Given the description of an element on the screen output the (x, y) to click on. 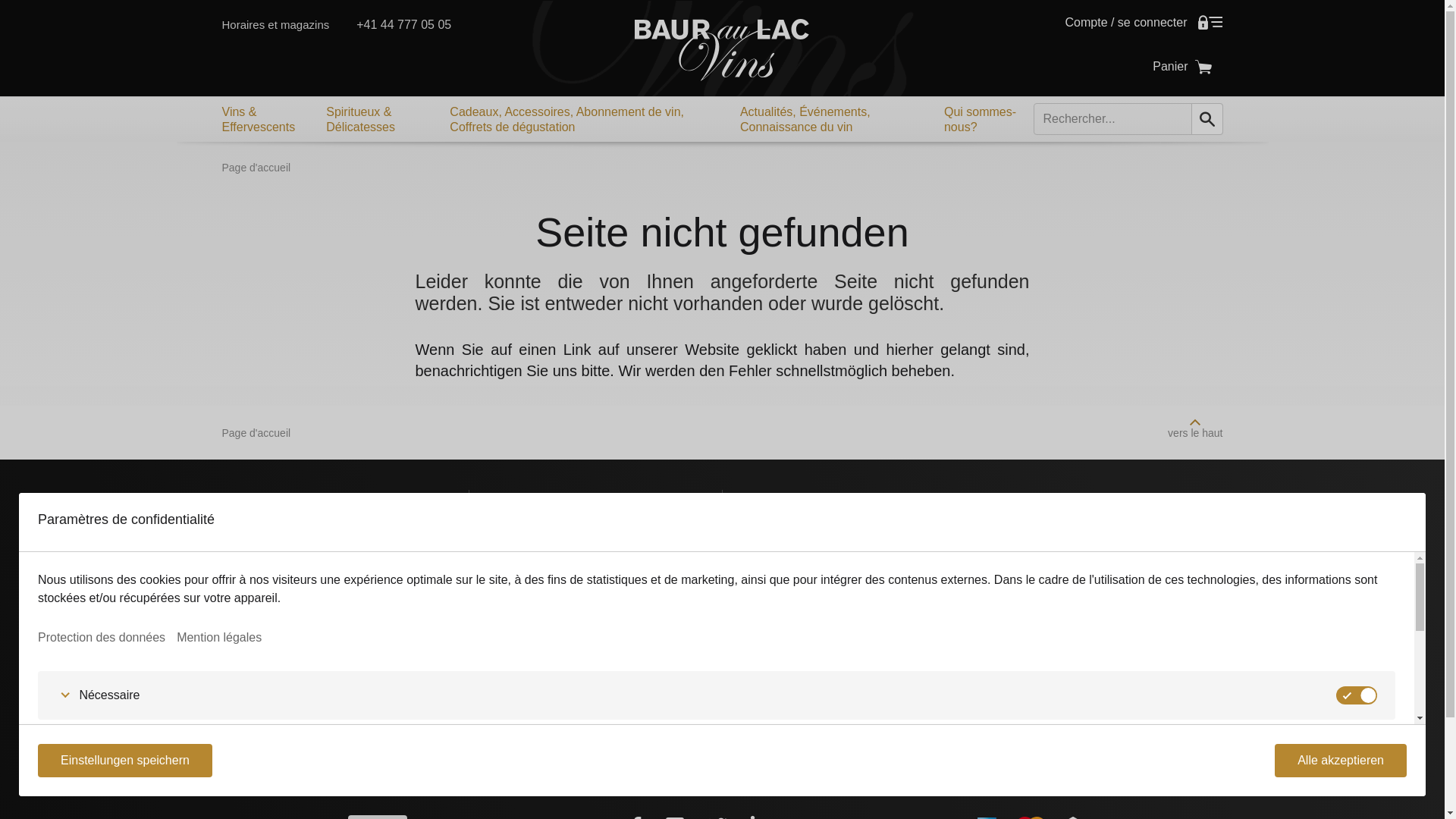
eCommerce Trustmark Element type: hover (976, 715)
Horaires et magazins Element type: text (275, 24)
Acquisition de vins Fine & Rare Element type: text (1145, 562)
Cadeaux & Accesoires Element type: text (810, 578)
Alle akzeptieren Element type: text (1340, 760)
Connaissance du vin Element type: text (976, 529)
Einstellungen speichern Element type: text (124, 760)
Page d'accueil Element type: text (255, 432)
rechercher Element type: text (1206, 118)
Vins & Effervescants Element type: text (810, 529)
information@balv.ch Element type: text (538, 696)
Livraison Element type: text (1145, 529)
Qui sommes-nous? Element type: text (983, 119)
Horaires et magazins Element type: text (540, 743)
Vins & Effervescents Element type: text (262, 119)
Abonnements de vins Element type: text (810, 603)
Producteurs Element type: text (976, 554)
vers le haut Element type: text (1194, 421)
Baur au Lac Vins Element type: hover (721, 49)
Page d'accueil Element type: text (255, 167)
bestellungen@balv.ch Element type: text (542, 716)
Swiss Online Garantie Element type: hover (810, 715)
